Given the description of an element on the screen output the (x, y) to click on. 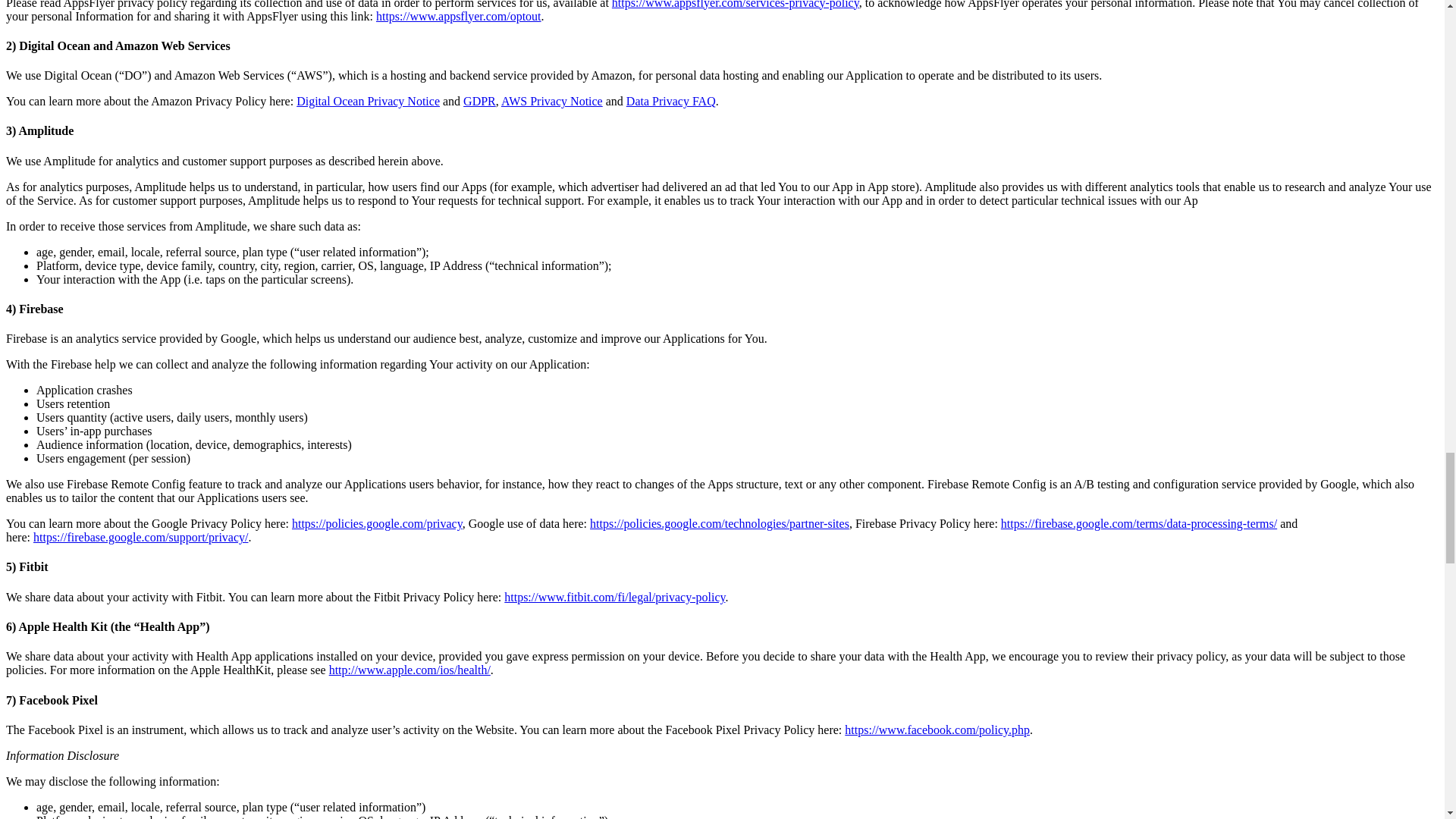
AWS Privacy Notice (551, 101)
Data Privacy FAQ (671, 101)
Digital Ocean Privacy Notice (368, 101)
GDPR (479, 101)
